Given the description of an element on the screen output the (x, y) to click on. 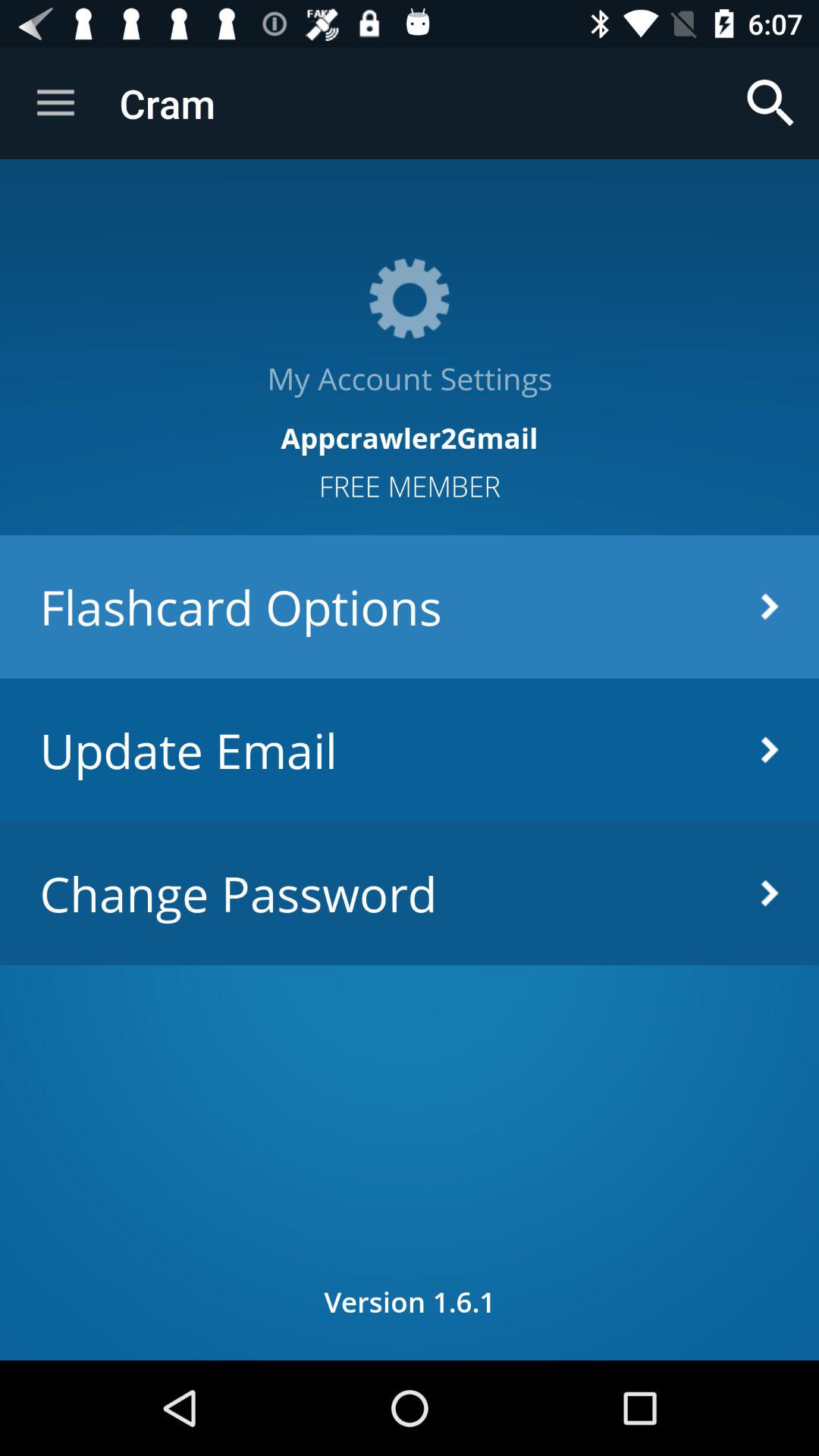
flip to the update email (409, 749)
